Given the description of an element on the screen output the (x, y) to click on. 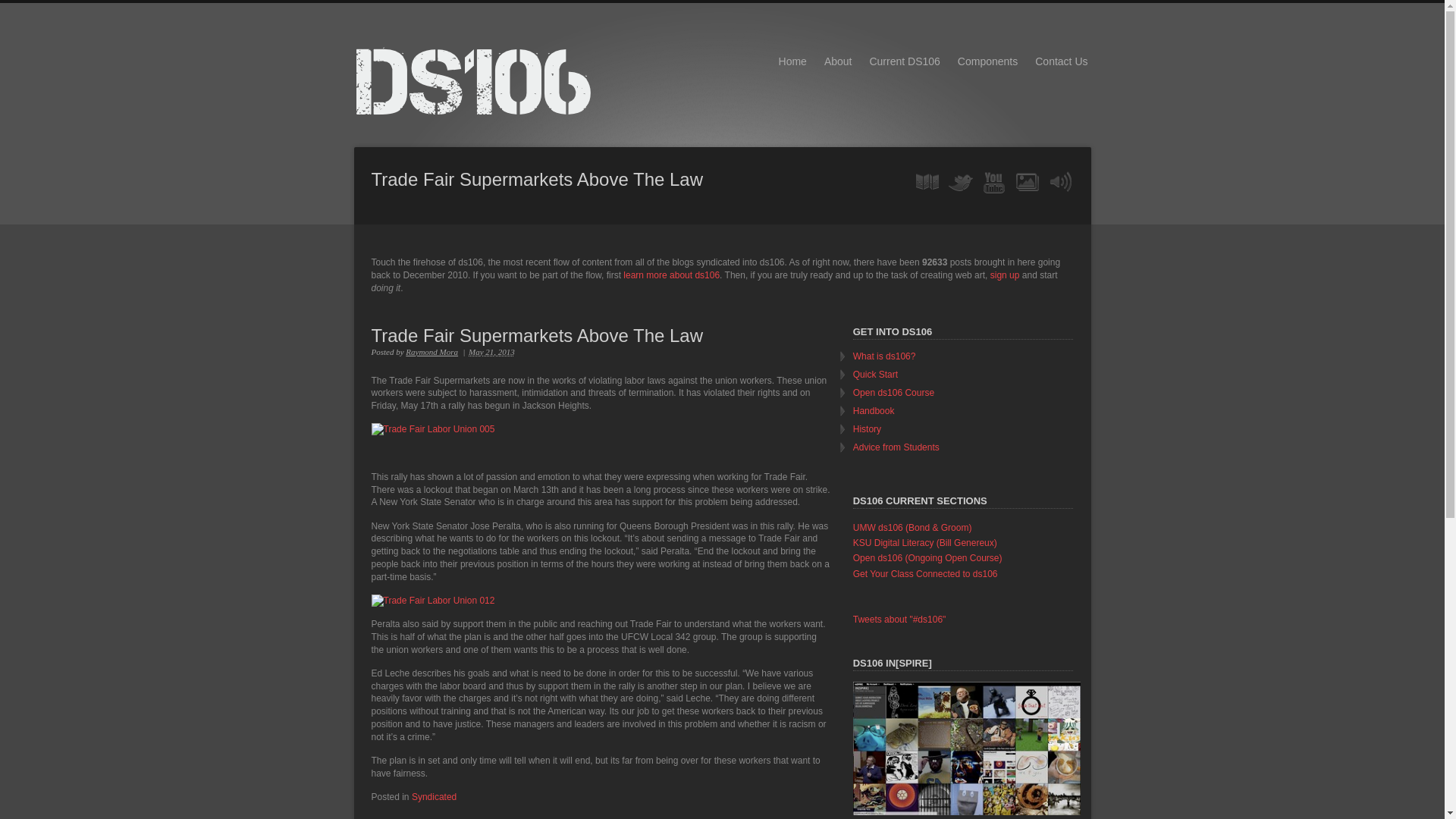
sign up (1005, 275)
Components (987, 61)
Current DS106 (903, 61)
Home (792, 61)
learn more about ds106 (671, 275)
About (837, 61)
Trade Fair Supermarkets Above The Law (601, 335)
2013-05-21T15:54:51-04:00 (491, 351)
Contact Us (1061, 61)
Posts by Raymond Mora (432, 351)
